Given the description of an element on the screen output the (x, y) to click on. 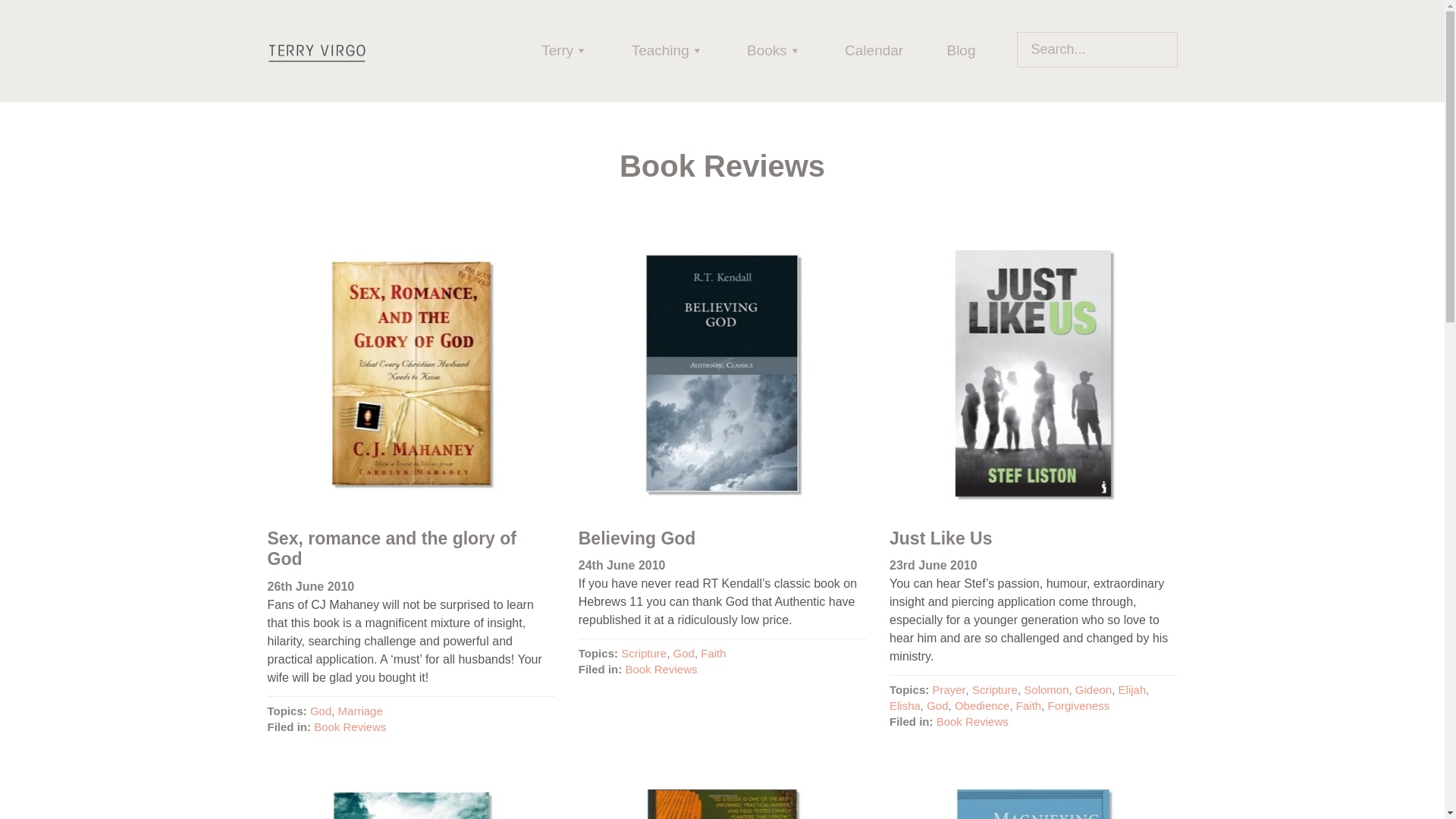
Blog (960, 50)
God (683, 653)
God (320, 710)
Teaching (667, 50)
Faith (712, 653)
Scripture (643, 653)
Calendar (874, 50)
Sex, romance and the glory of God (390, 547)
